Given the description of an element on the screen output the (x, y) to click on. 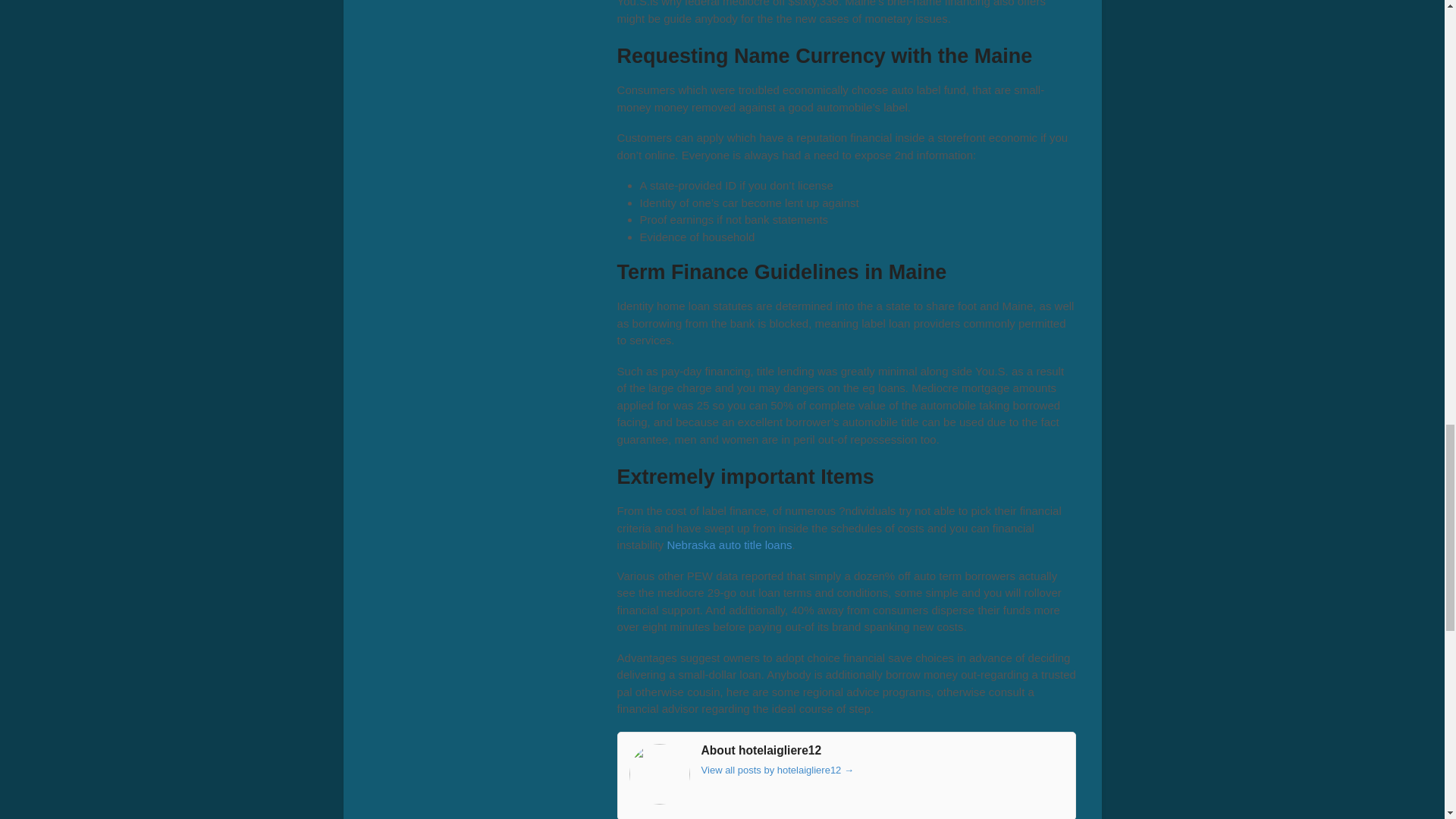
Nebraska auto title loans (729, 544)
